Given the description of an element on the screen output the (x, y) to click on. 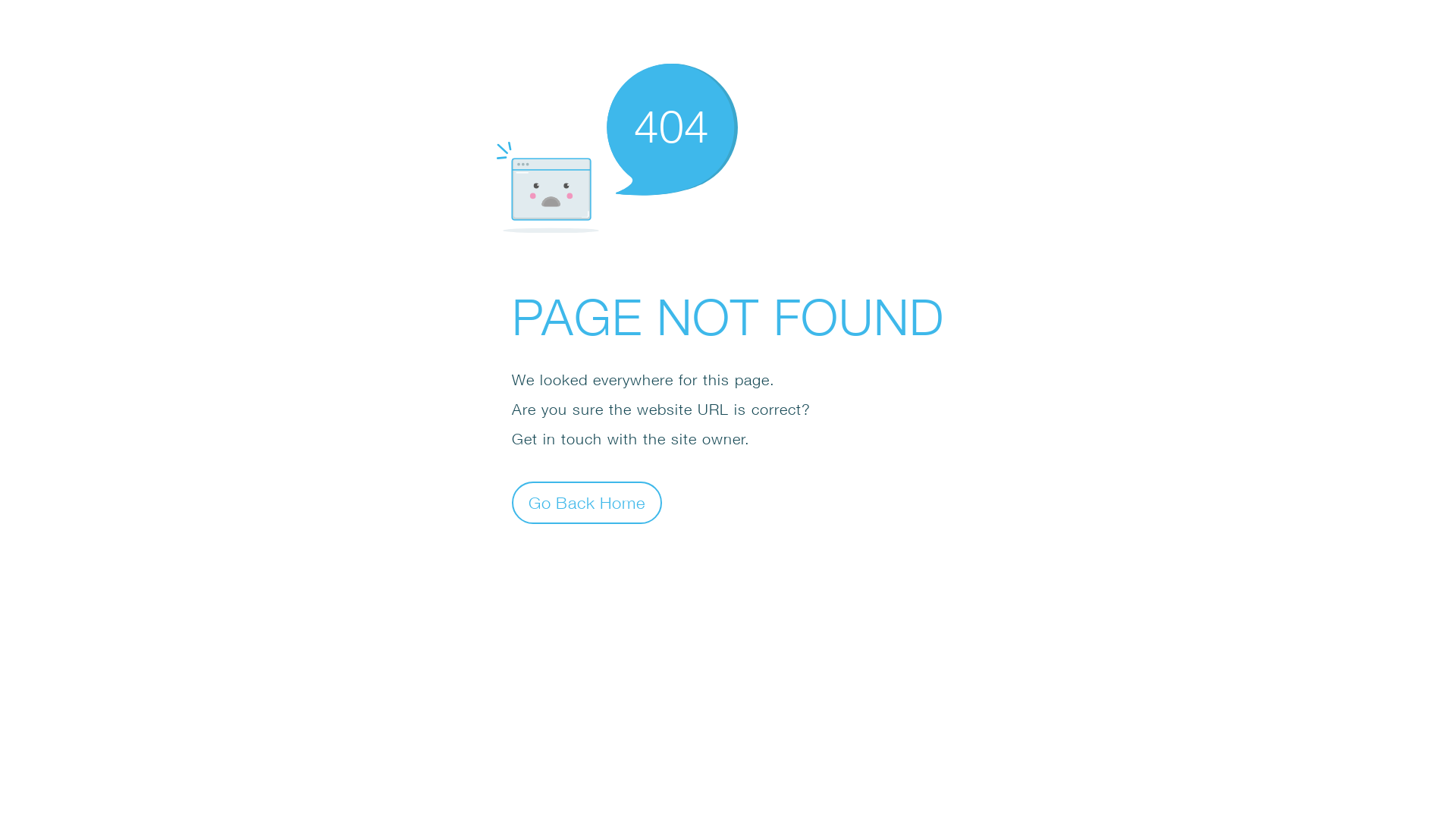
Go Back Home Element type: text (586, 502)
